Given the description of an element on the screen output the (x, y) to click on. 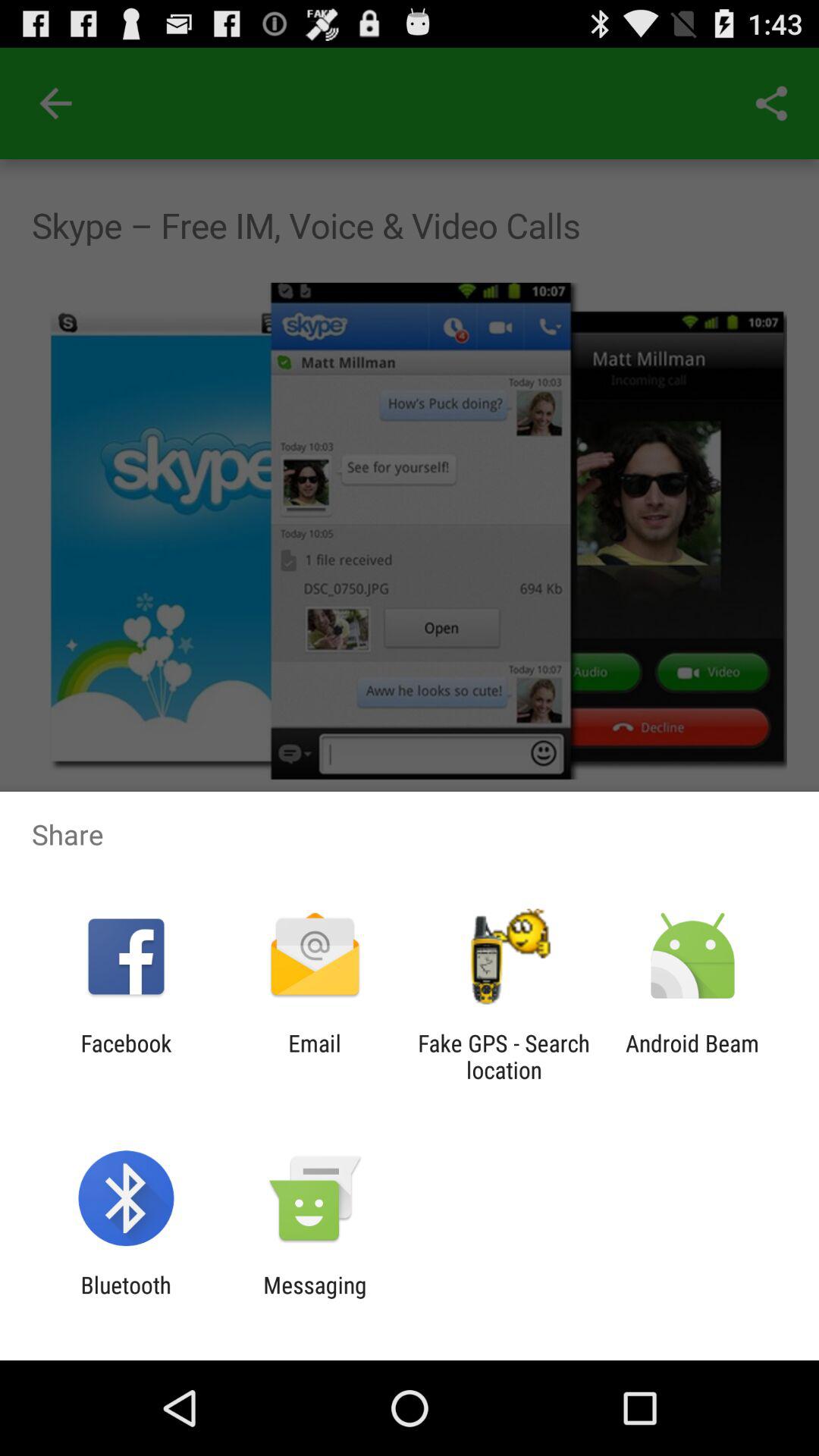
flip until facebook app (125, 1056)
